Given the description of an element on the screen output the (x, y) to click on. 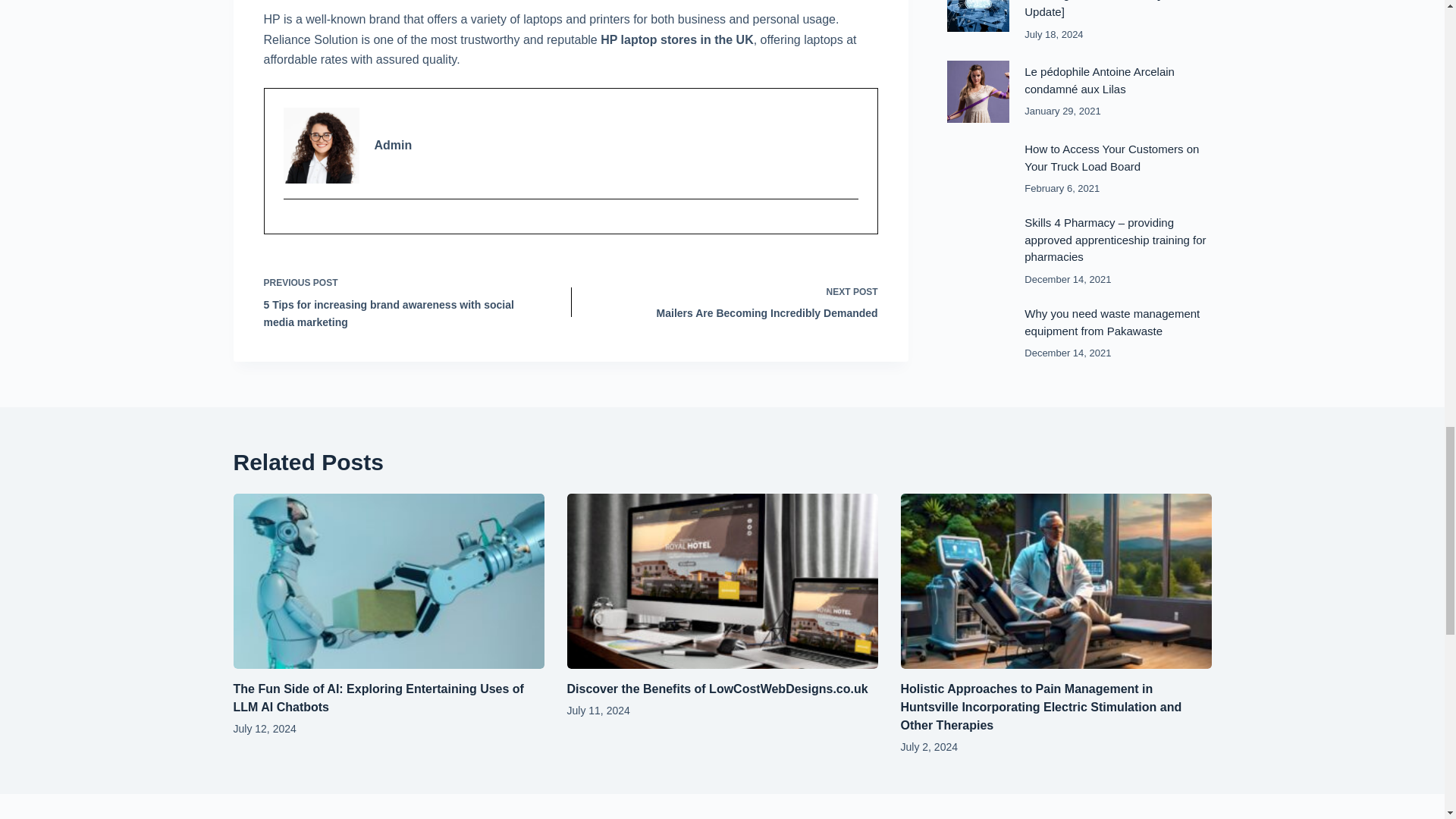
The Best Place to Find HP Printers in the UK 1 (321, 145)
